Given the description of an element on the screen output the (x, y) to click on. 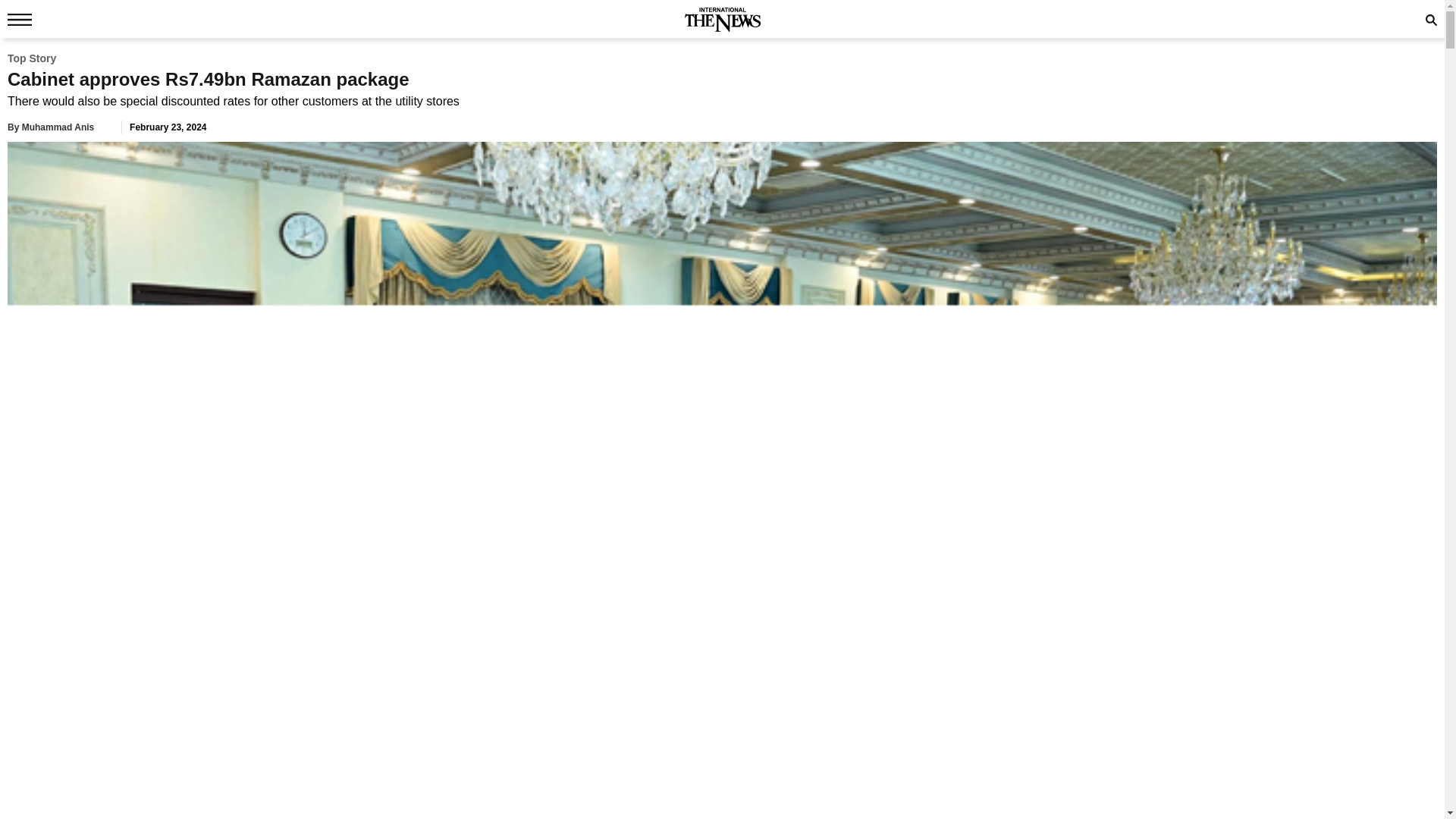
Top Story (31, 58)
